Given the description of an element on the screen output the (x, y) to click on. 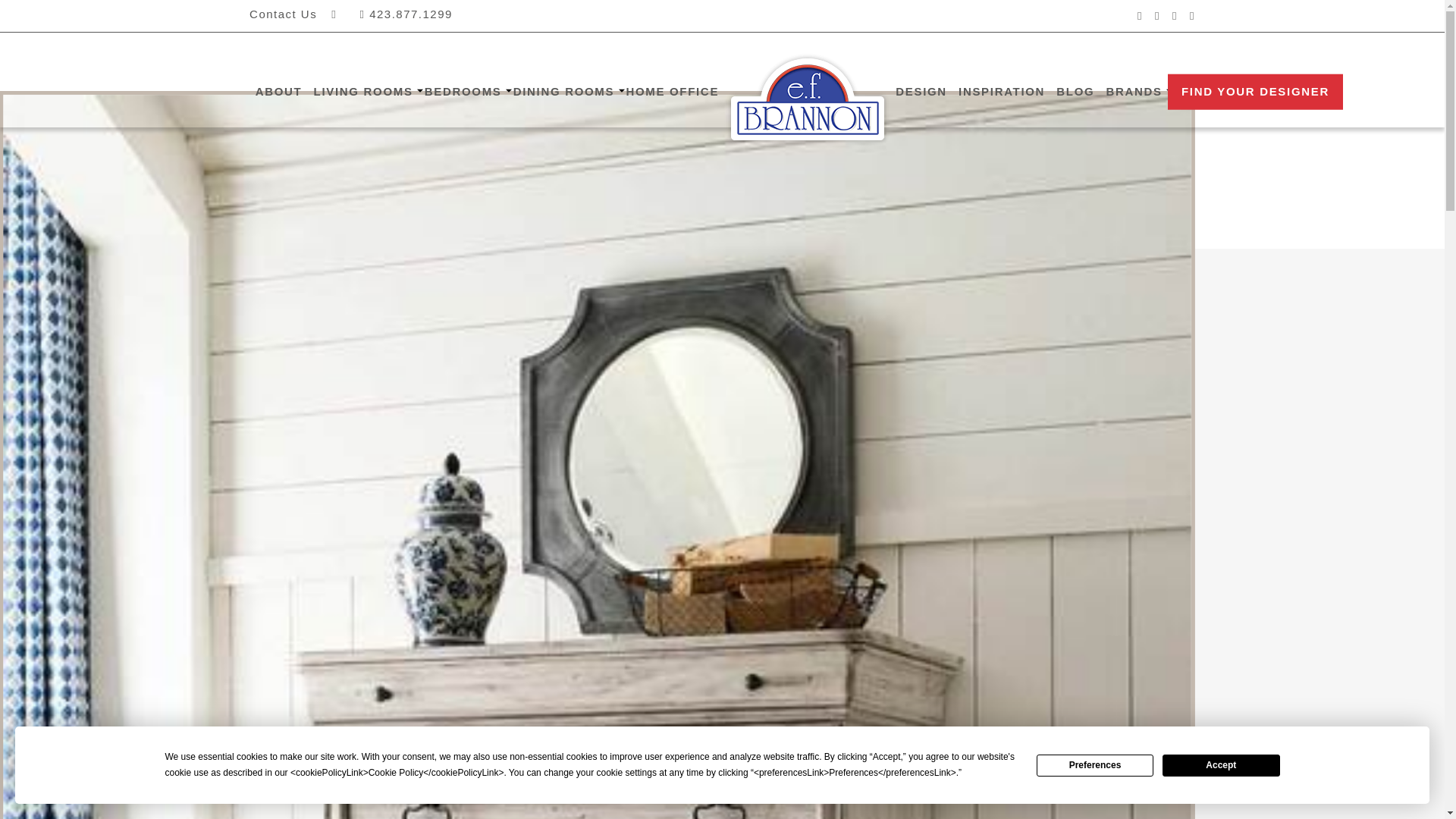
HOME (807, 98)
ABOUT (277, 91)
423.877.1299 (405, 14)
Preferences (1094, 764)
HOME OFFICE (672, 91)
DINING ROOMS (563, 91)
INSPIRATION (1000, 91)
DESIGN (921, 91)
BEDROOMS (462, 91)
Contact Us (282, 14)
BLOG (1075, 91)
Accept (1220, 764)
LIVING ROOMS (363, 91)
BRANDS (1133, 91)
